Given the description of an element on the screen output the (x, y) to click on. 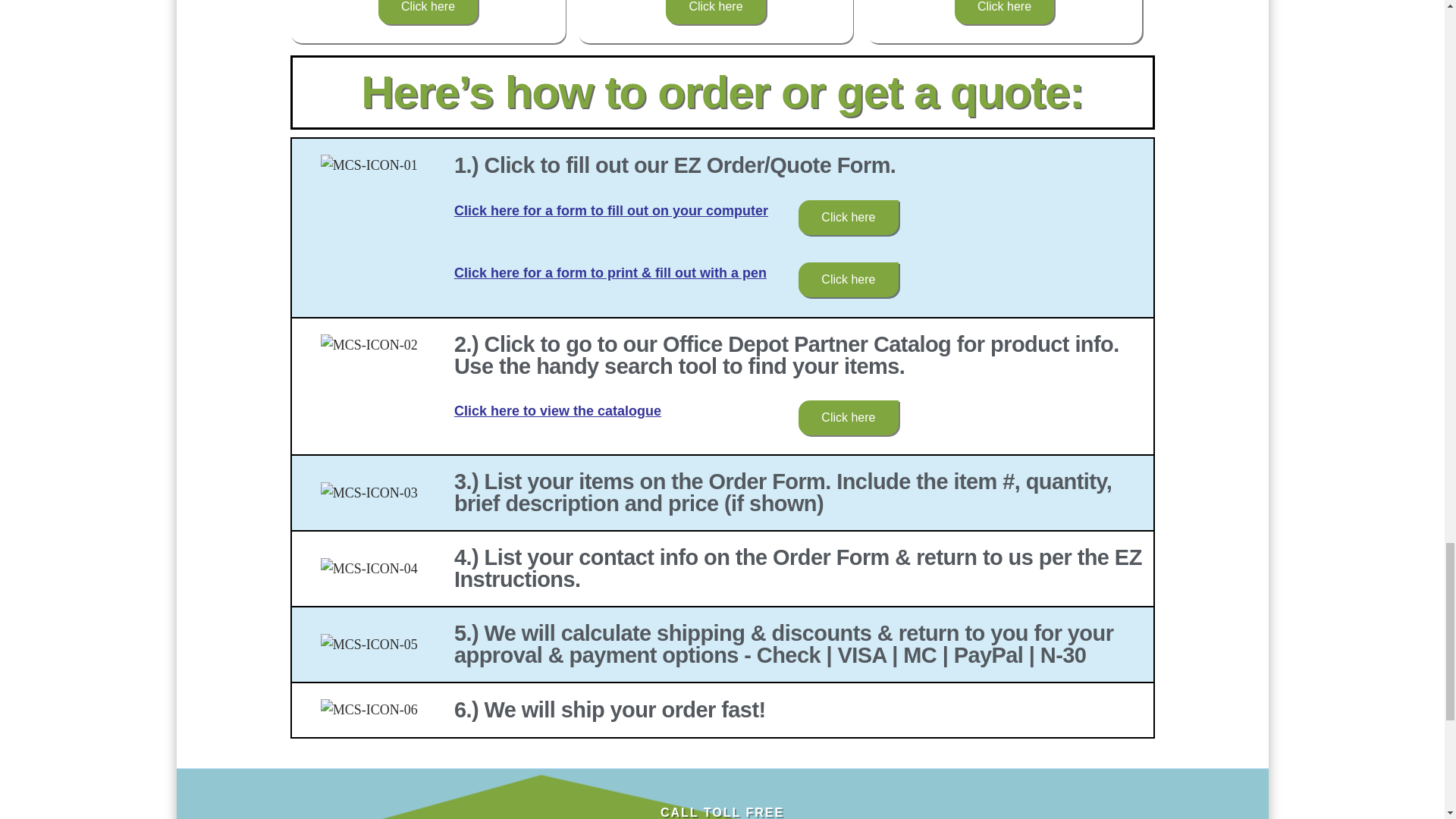
Click here (847, 217)
MCS-ICON-02 (368, 345)
MCS-ICON-04 (368, 568)
Click here to view the catalogue (557, 410)
Click here (715, 12)
Click here for a form to fill out on your computer (611, 210)
MCS-ICON-06 (368, 710)
Click here (427, 12)
Click here (1004, 12)
MCS-ICON-03 (368, 493)
